Given the description of an element on the screen output the (x, y) to click on. 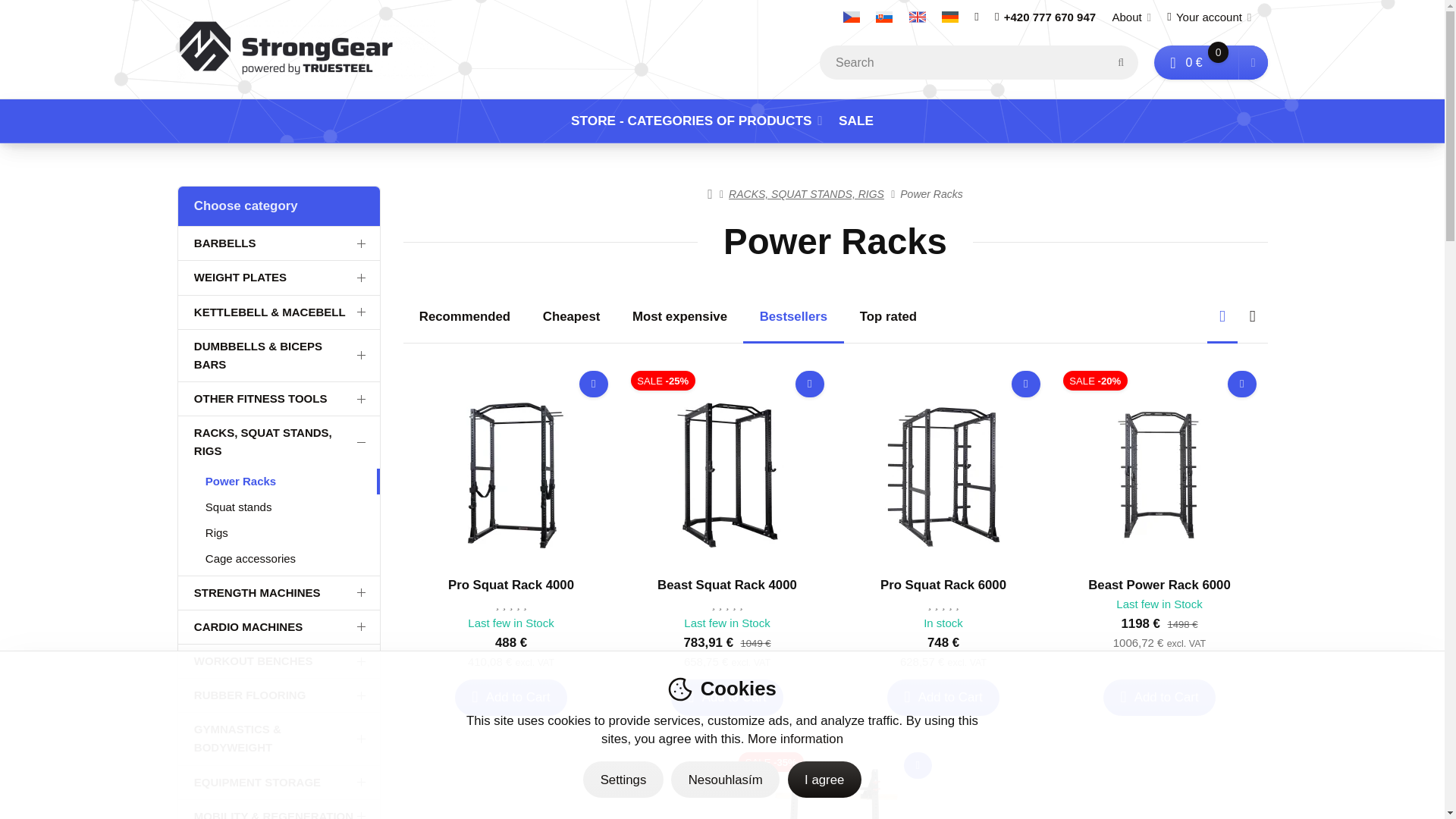
Home (306, 49)
Slovensky (884, 17)
English (917, 17)
Your account (1208, 17)
About (1130, 17)
Deutsch (949, 17)
